Given the description of an element on the screen output the (x, y) to click on. 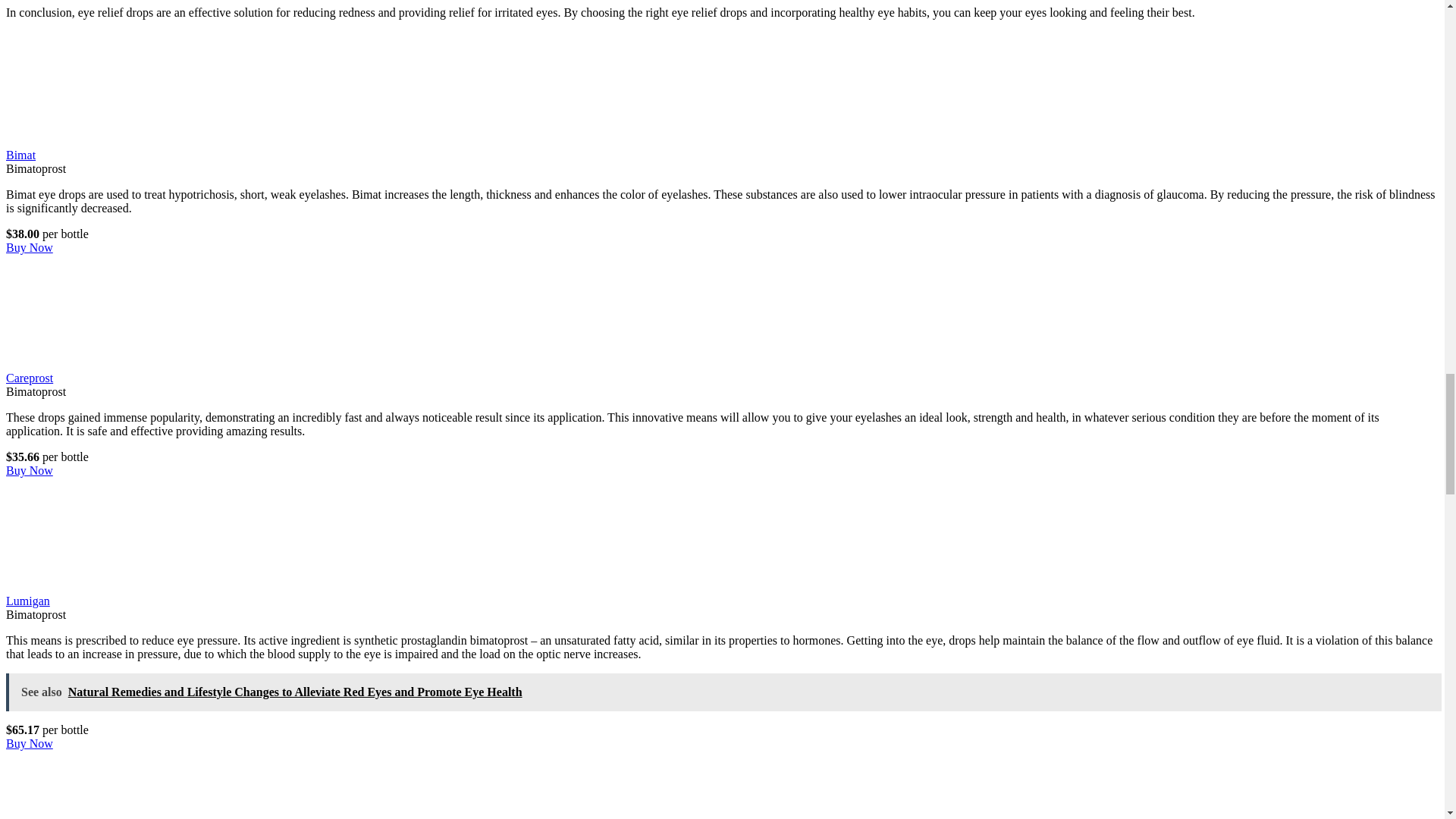
Bimat (19, 154)
Buy Now (28, 470)
Bimat (118, 141)
Buy Now (28, 743)
Careprost (28, 377)
Careprost (118, 364)
Lumigan (27, 600)
Buy Now (28, 470)
Buy Now (28, 246)
Lumigan (118, 586)
